Given the description of an element on the screen output the (x, y) to click on. 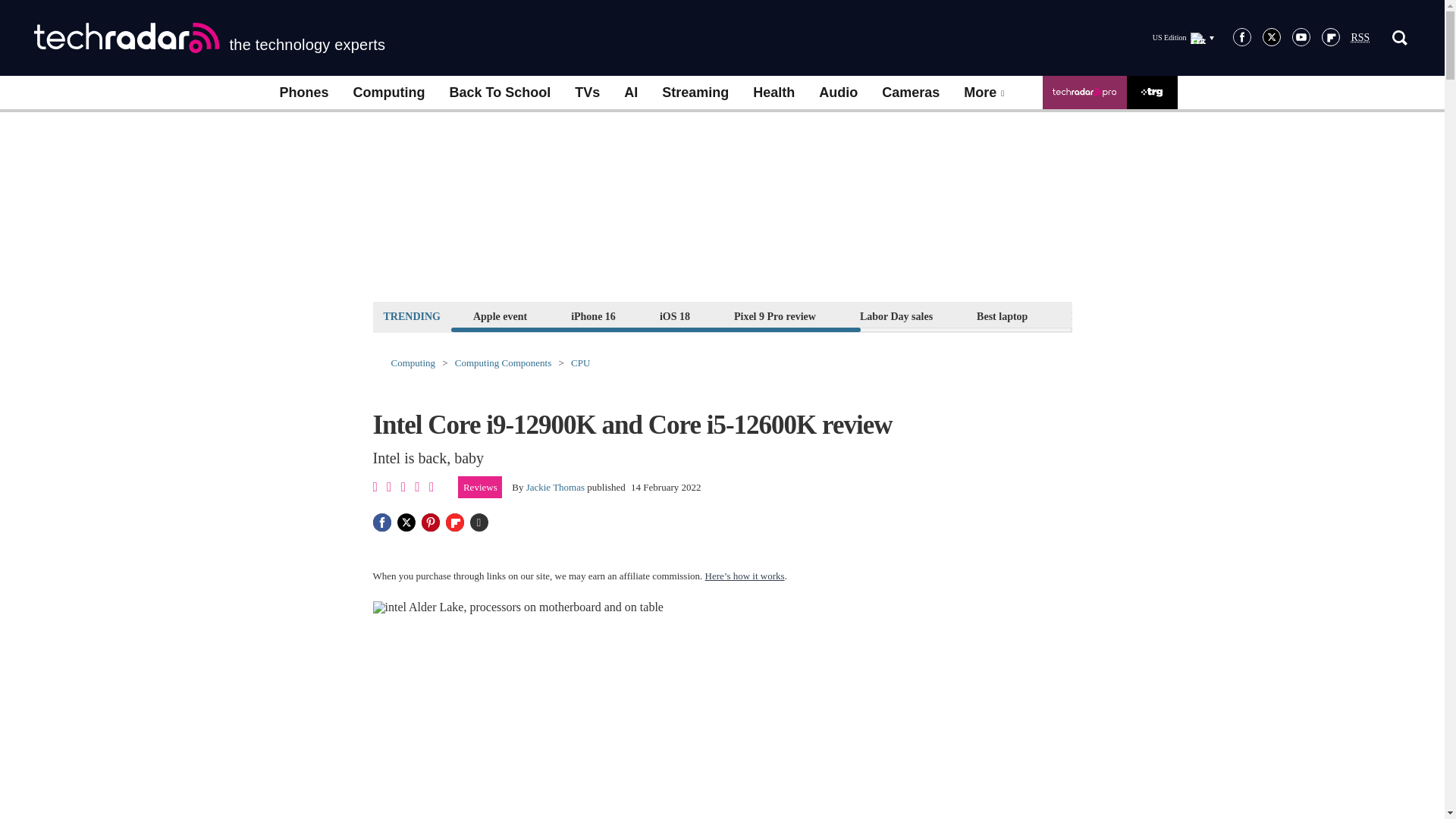
Audio (837, 92)
Cameras (910, 92)
Really Simple Syndication (1360, 37)
TVs (586, 92)
Computing (389, 92)
Streaming (695, 92)
US Edition (1182, 37)
Back To School (499, 92)
the technology experts (209, 38)
Health (773, 92)
